Given the description of an element on the screen output the (x, y) to click on. 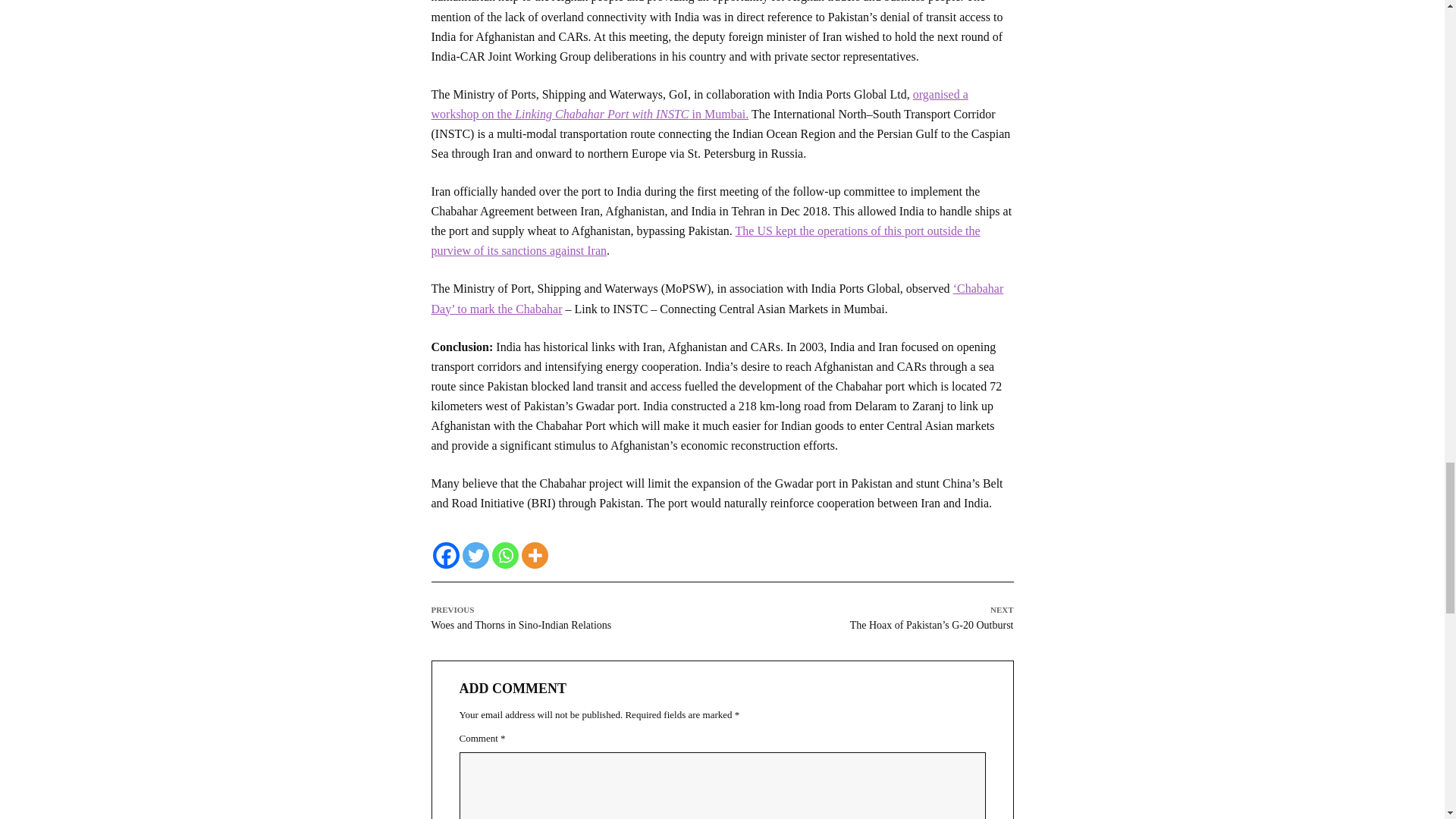
Facebook (445, 555)
More (534, 555)
Twitter (476, 555)
Whatsapp (505, 555)
